Given the description of an element on the screen output the (x, y) to click on. 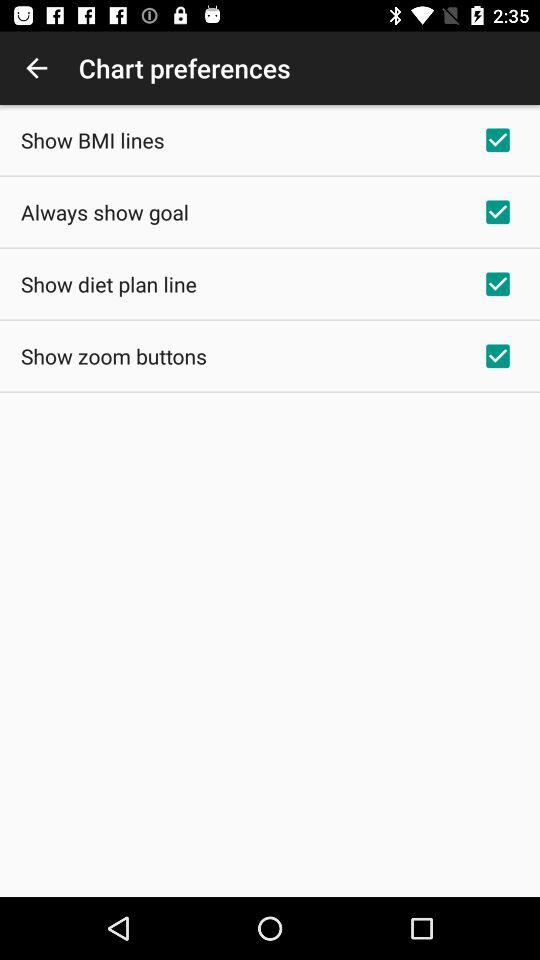
turn on show bmi lines icon (92, 139)
